Given the description of an element on the screen output the (x, y) to click on. 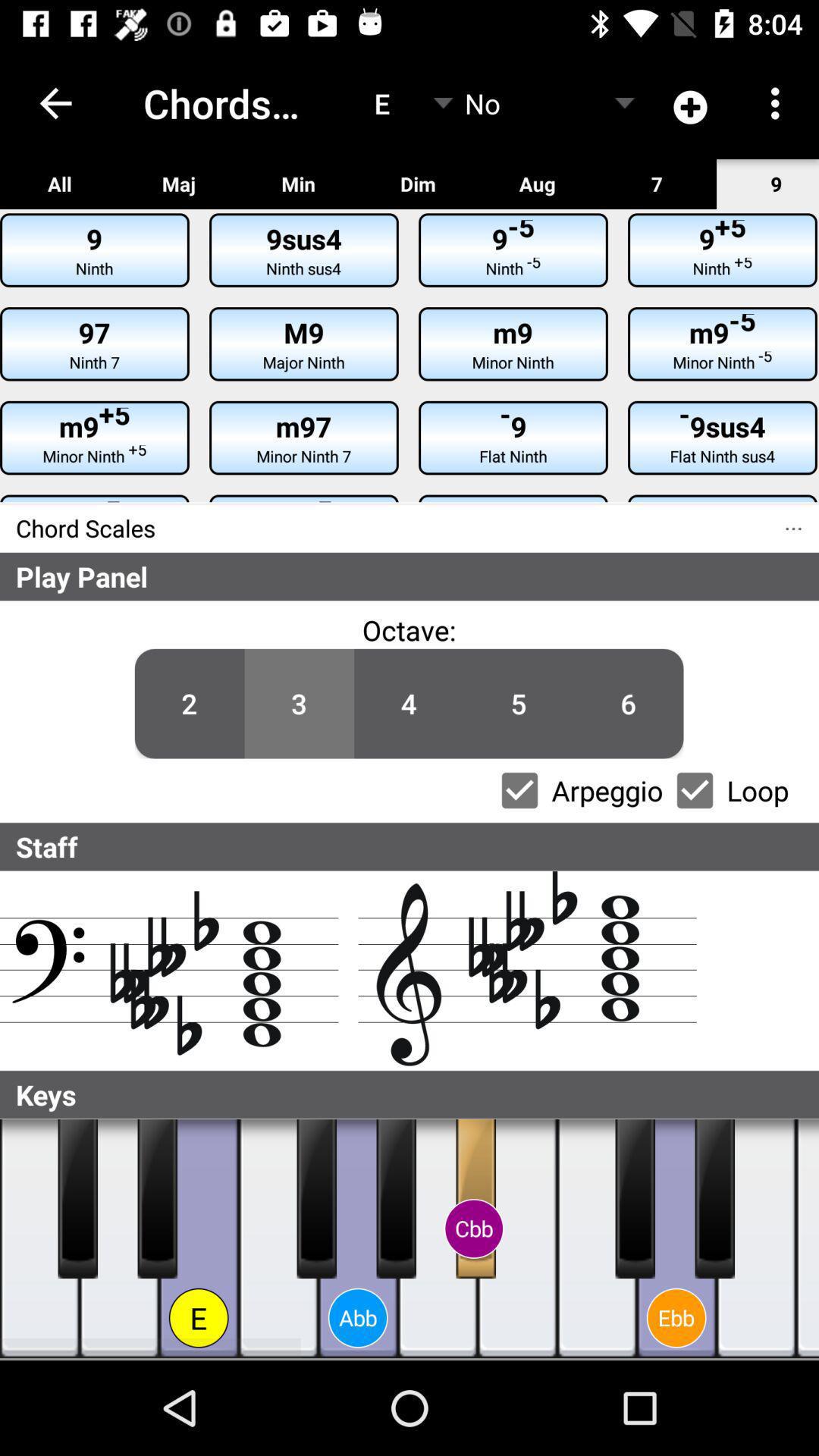
play note (635, 1198)
